Given the description of an element on the screen output the (x, y) to click on. 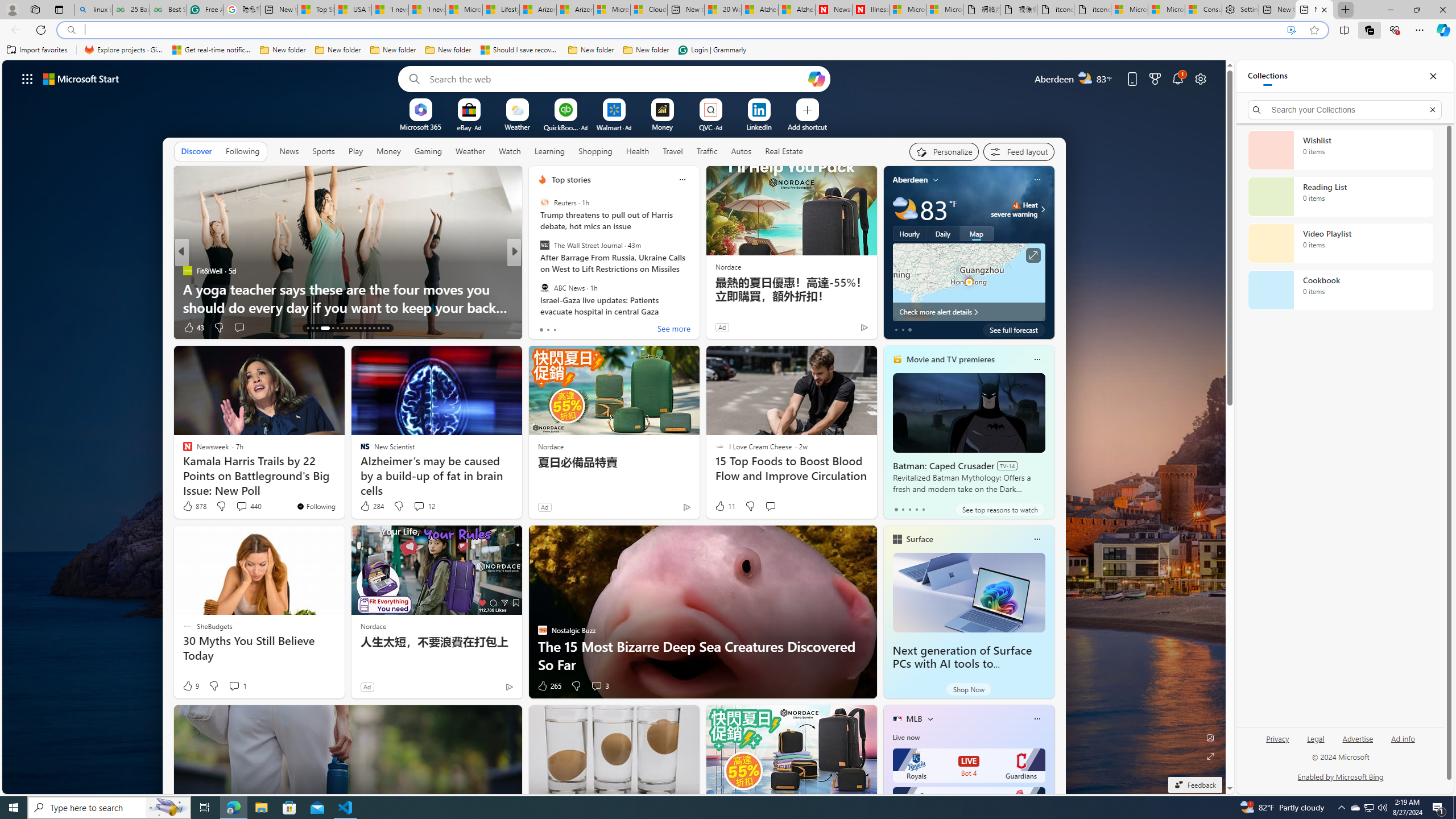
Click to see more information (1033, 255)
Top stories (571, 179)
You're following MSNBC (839, 329)
tab-2 (908, 509)
ATP Fitness Pte Ltd (560, 288)
Play (354, 151)
Top Stories - MSN (315, 9)
878 Like (193, 505)
69 Like (543, 327)
